Given the description of an element on the screen output the (x, y) to click on. 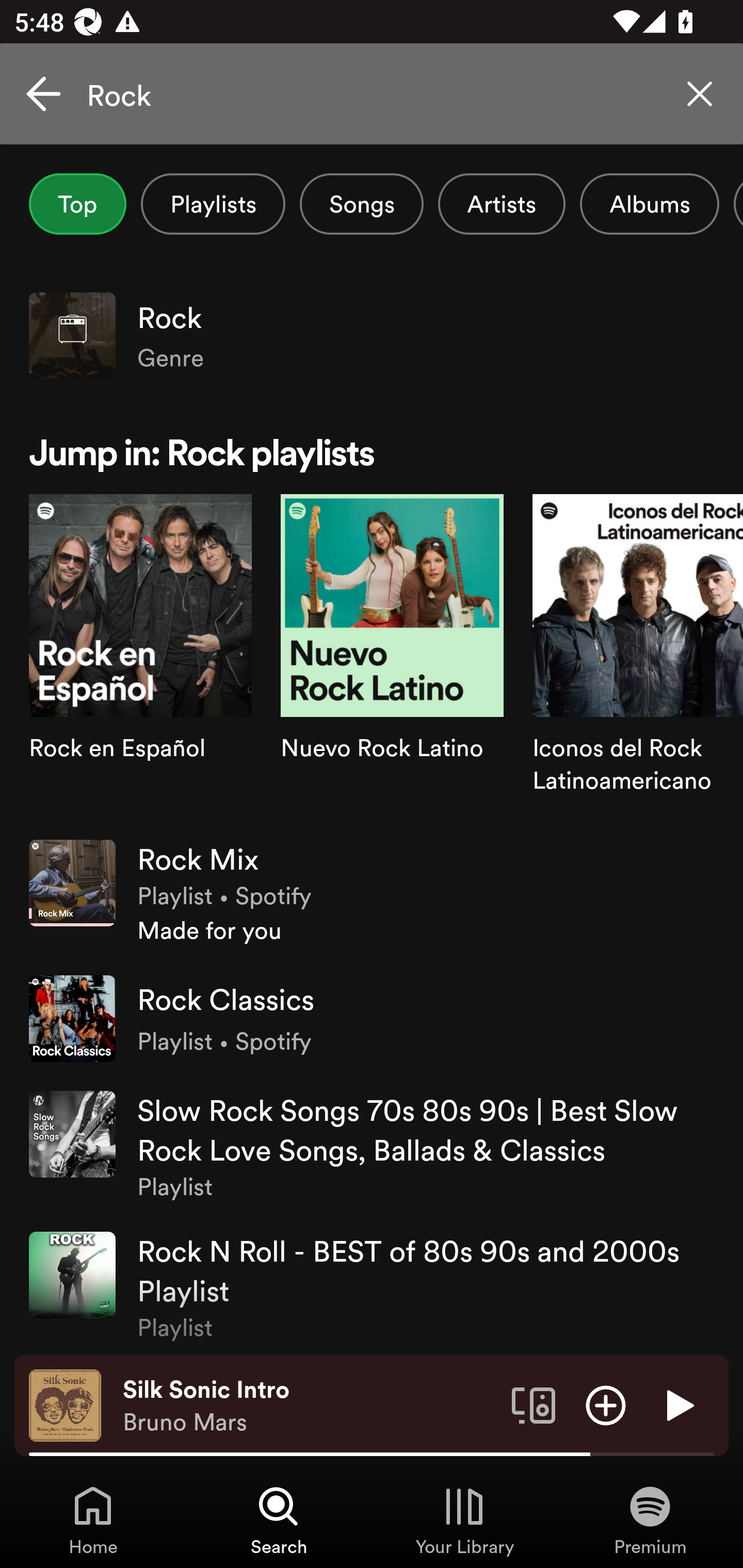
Rock (371, 93)
Cancel (43, 93)
Clear search query (699, 93)
Top (77, 203)
Playlists (213, 203)
Songs (361, 203)
Artists (501, 203)
Albums (649, 203)
Rock Genre (371, 335)
Search card image Rock en Español (139, 658)
Search card image Nuevo Rock Latino (391, 658)
Search card image Iconos del Rock Latinoamericano (637, 658)
Rock Mix Playlist • Spotify Made for you (371, 892)
Rock Classics Playlist • Spotify (371, 1019)
Silk Sonic Intro Bruno Mars (309, 1405)
The cover art of the currently playing track (64, 1404)
Connect to a device. Opens the devices menu (533, 1404)
Add item (605, 1404)
Play (677, 1404)
Home, Tab 1 of 4 Home Home (92, 1519)
Search, Tab 2 of 4 Search Search (278, 1519)
Your Library, Tab 3 of 4 Your Library Your Library (464, 1519)
Premium, Tab 4 of 4 Premium Premium (650, 1519)
